Given the description of an element on the screen output the (x, y) to click on. 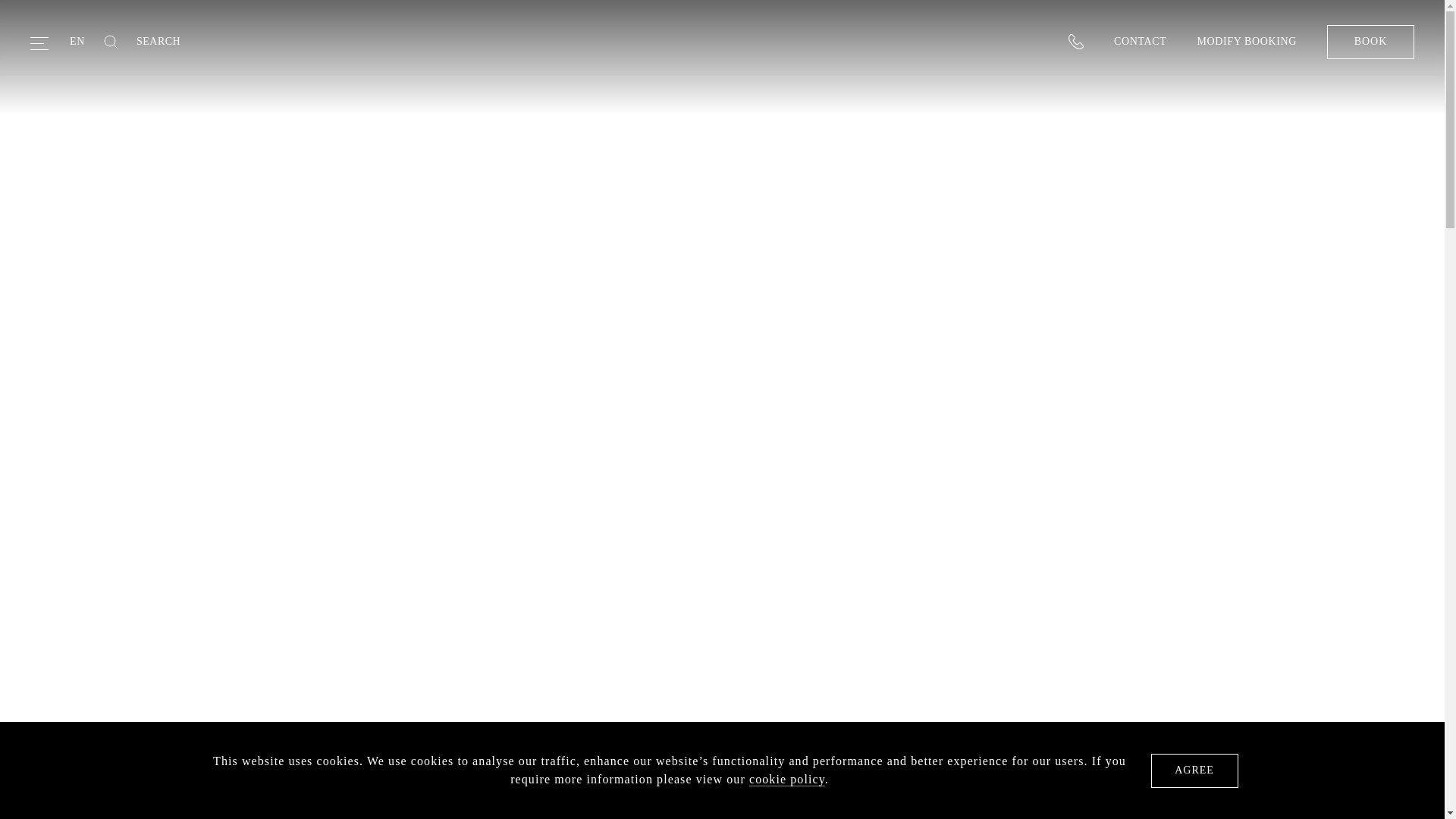
BOOK (1369, 41)
Cookie Policy (787, 779)
CONTACT (1139, 41)
MODIFY BOOKING (1246, 41)
